Given the description of an element on the screen output the (x, y) to click on. 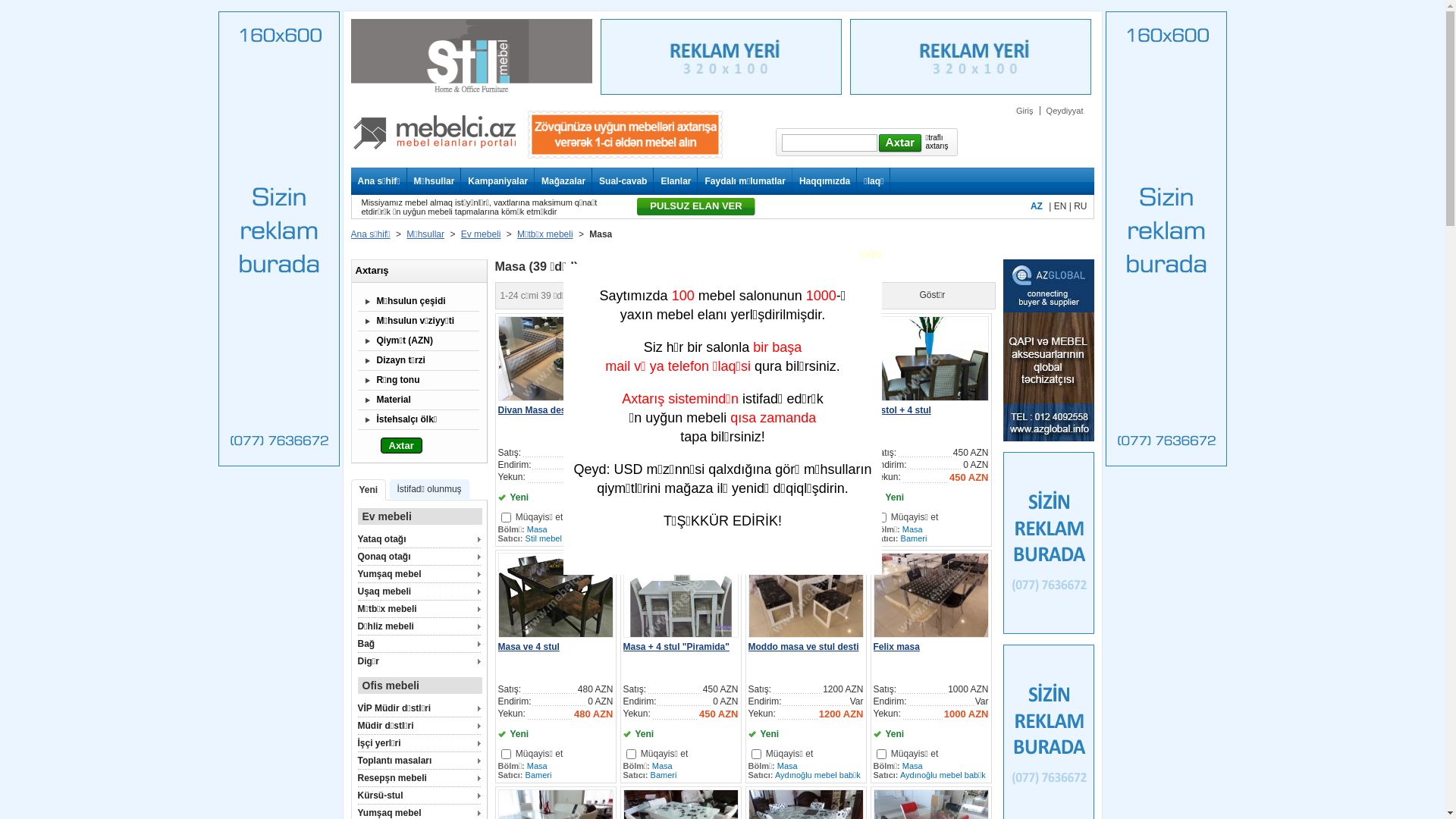
4924 Element type: text (755, 517)
Tarix Element type: text (657, 295)
Masa Element type: text (662, 765)
3809 Element type: text (881, 754)
Ev mebeli Element type: text (481, 234)
Bameri Element type: text (663, 774)
Stil mebel Element type: text (668, 537)
2 Element type: text (834, 295)
Masa Element type: text (537, 528)
Divan Masa desti DM005 Element type: text (549, 409)
Bameri Element type: text (788, 537)
6348 Element type: text (631, 517)
Yeni Element type: text (367, 489)
3811 Element type: text (755, 754)
AZ Element type: text (1036, 205)
Masa ve 4 stul Element type: text (527, 646)
Bameri Element type: text (538, 774)
Metbex Masa Kelebek Element type: text (794, 409)
Masa Element type: text (912, 765)
Mebel kataloqu Element type: hover (433, 155)
PULSUZ ELAN VER Element type: text (696, 206)
Moddo masa ve stul desti Element type: text (802, 646)
4899 Element type: text (505, 754)
Masa Element type: text (662, 528)
Masa Element type: text (787, 765)
Bameri Element type: text (913, 537)
Felix masa Element type: text (896, 646)
7625 Element type: text (505, 517)
Masa Element type: text (787, 528)
Kampaniyalar Element type: text (494, 180)
Stil mebel Element type: text (543, 537)
Masa + 4 stul "Piramida" Element type: text (676, 646)
Ad Element type: text (681, 295)
Masa Element type: text (912, 528)
Qeydiyyat Element type: text (1064, 110)
1 stol + 4 stul Element type: text (902, 409)
Sual-cavab Element type: text (619, 180)
4878 Element type: text (631, 754)
4923 Element type: text (881, 517)
Masa Element type: text (537, 765)
Axtar Element type: text (401, 445)
Elanlar Element type: text (671, 180)
